Given the description of an element on the screen output the (x, y) to click on. 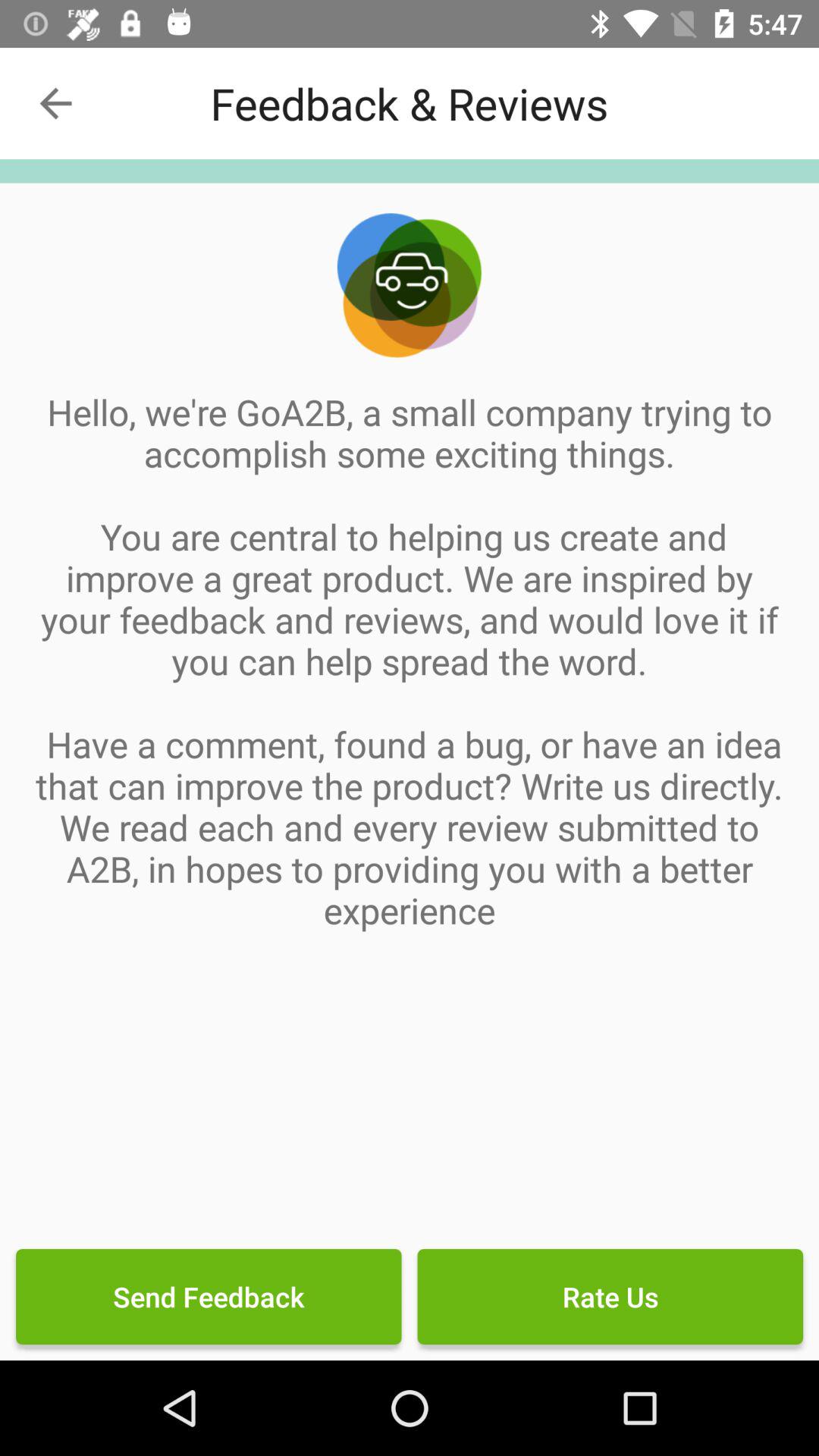
turn off icon to the right of send feedback (610, 1296)
